Given the description of an element on the screen output the (x, y) to click on. 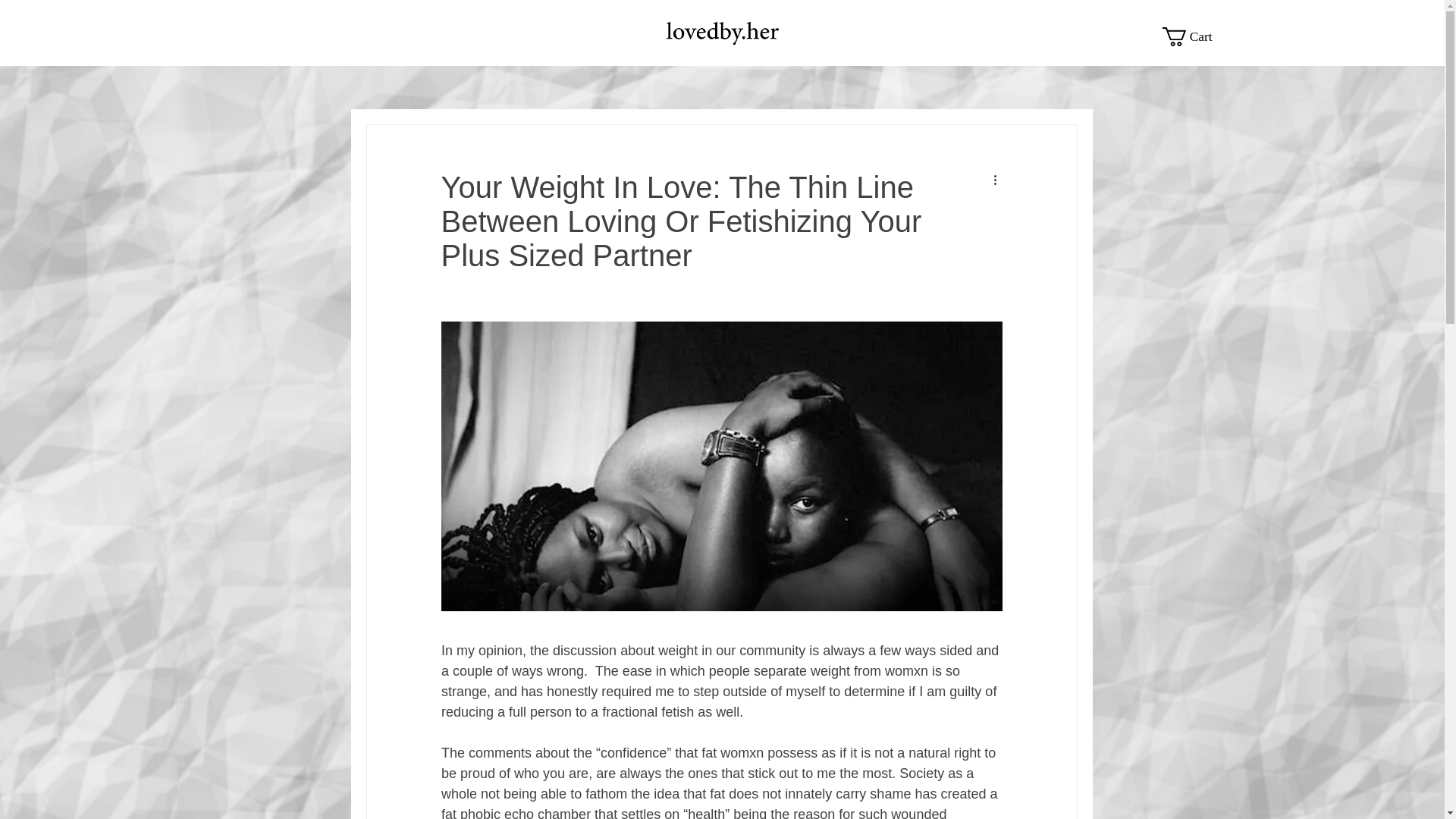
Cart (1193, 36)
Cart (1193, 36)
